Given the description of an element on the screen output the (x, y) to click on. 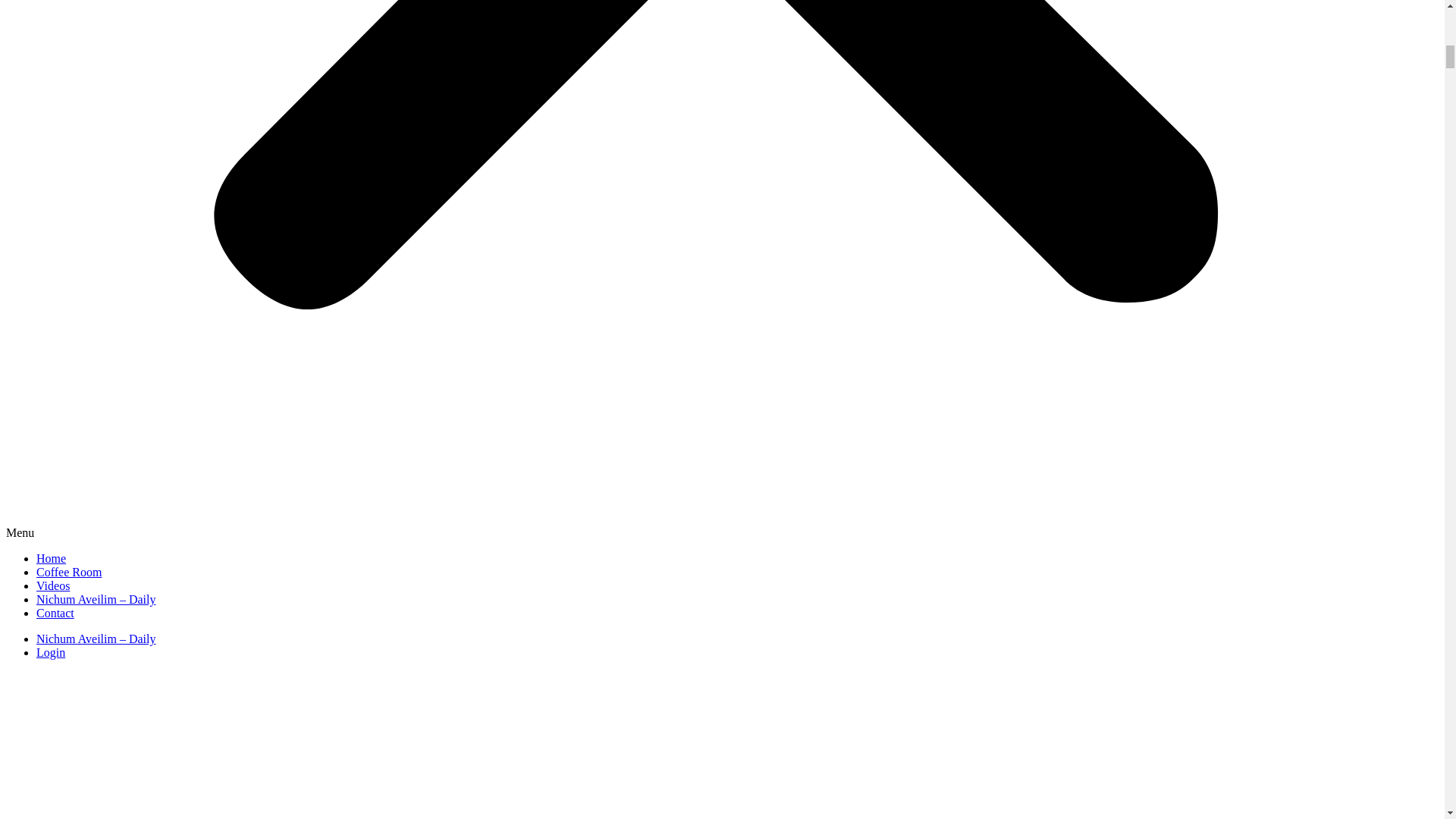
Coffee Room (68, 571)
Login (50, 652)
Videos (52, 585)
Home (50, 558)
Contact (55, 612)
